Given the description of an element on the screen output the (x, y) to click on. 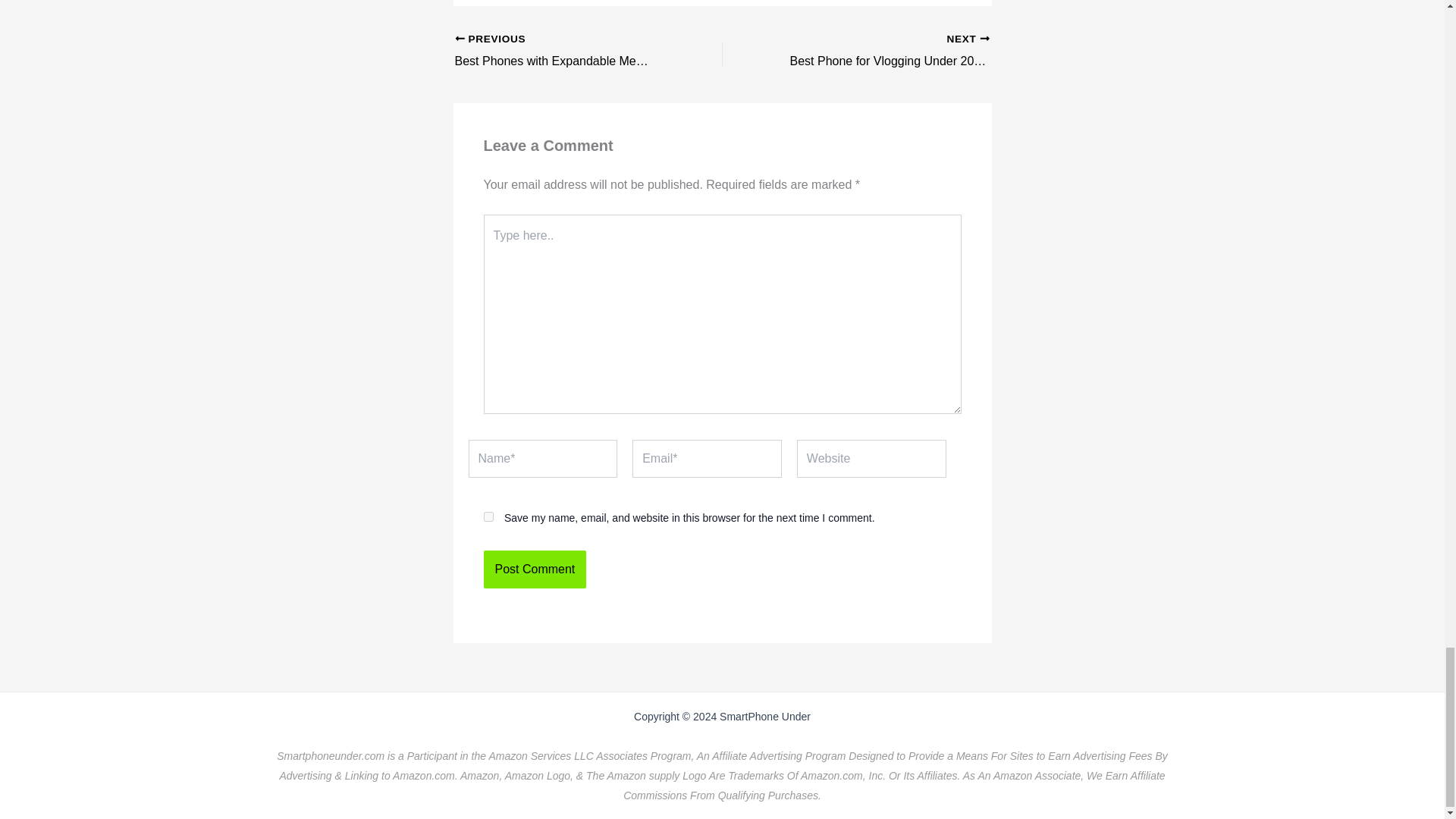
Post Comment (561, 51)
Post Comment (534, 569)
yes (534, 569)
Best Phone for Vlogging Under 20000 INR (488, 516)
Best Phones with Expandable Memory 2024 (882, 51)
